Given the description of an element on the screen output the (x, y) to click on. 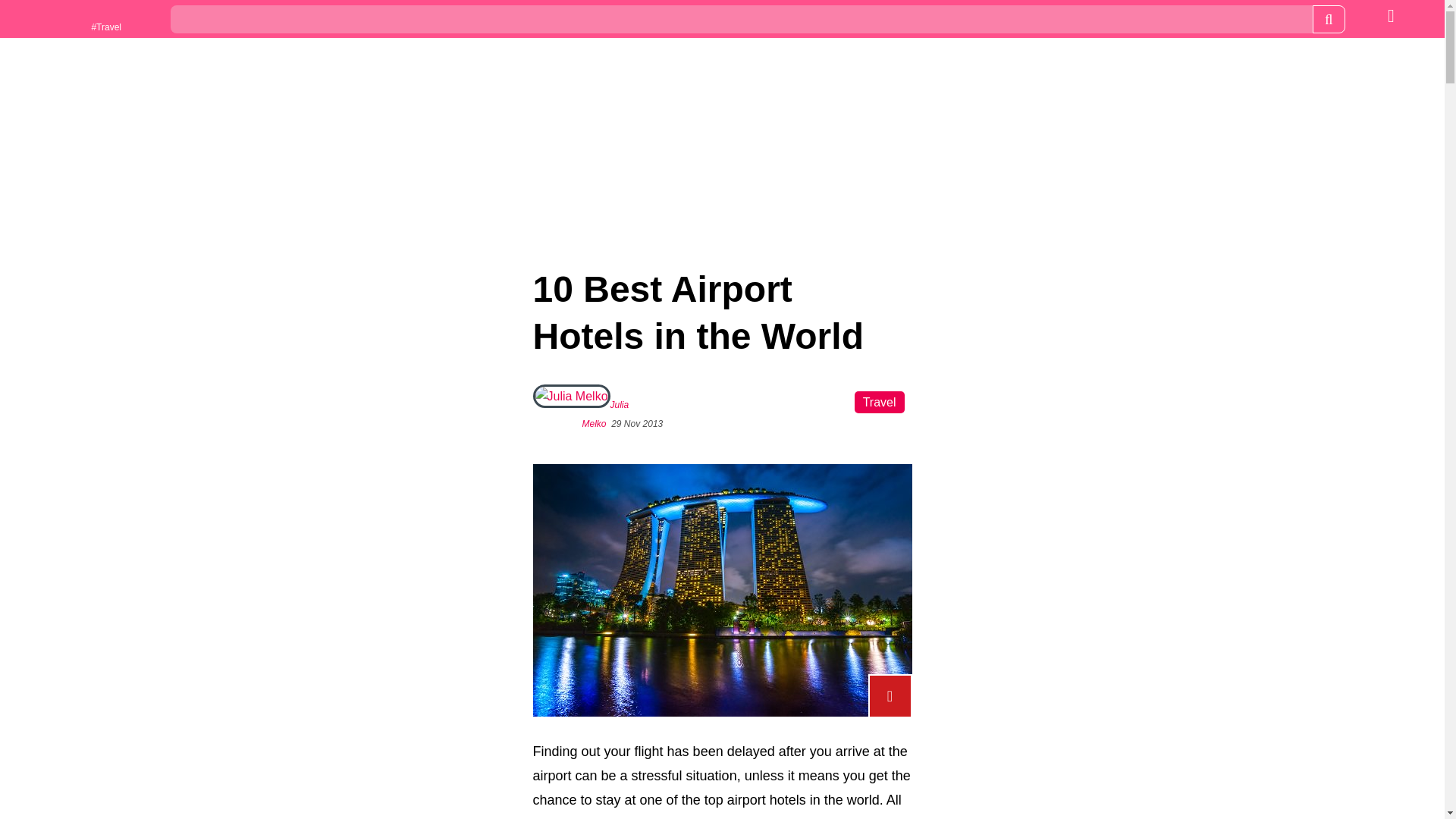
Travel Amerikanki (63, 19)
Travel (879, 402)
Julia Melko (605, 414)
Travel (63, 19)
